Given the description of an element on the screen output the (x, y) to click on. 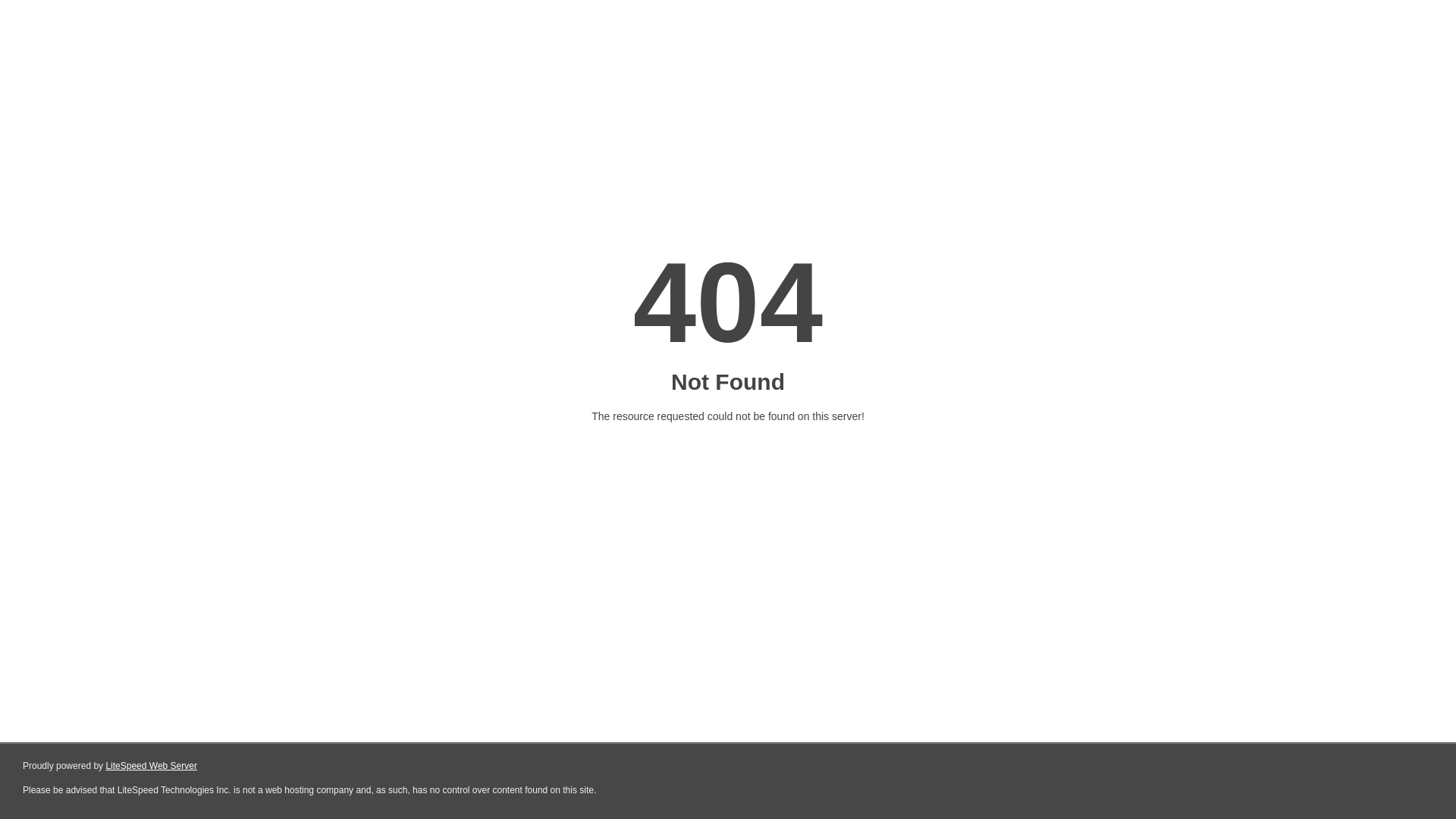
LiteSpeed Web Server Element type: text (151, 765)
